Given the description of an element on the screen output the (x, y) to click on. 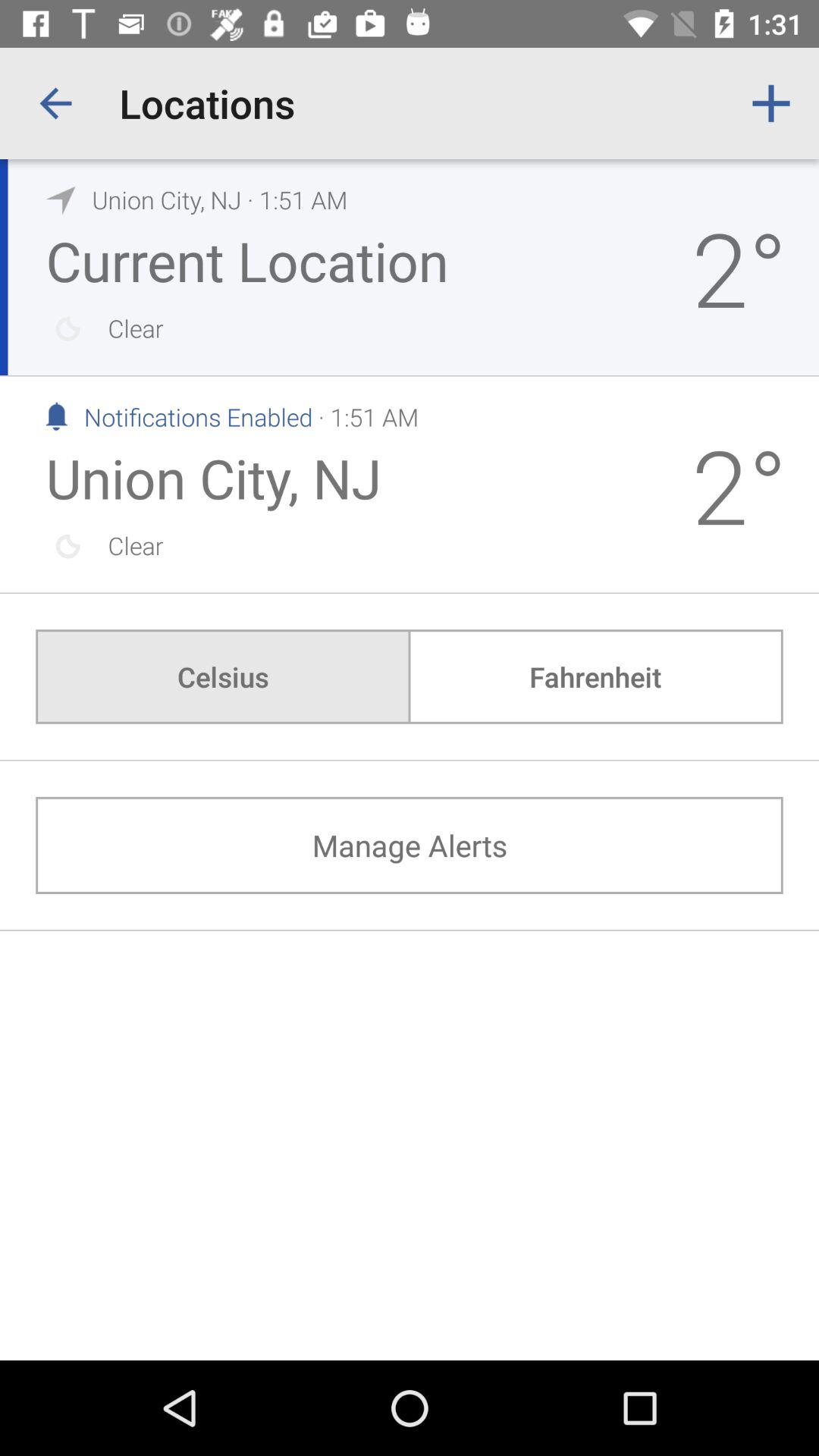
press the fahrenheit icon (595, 676)
